Given the description of an element on the screen output the (x, y) to click on. 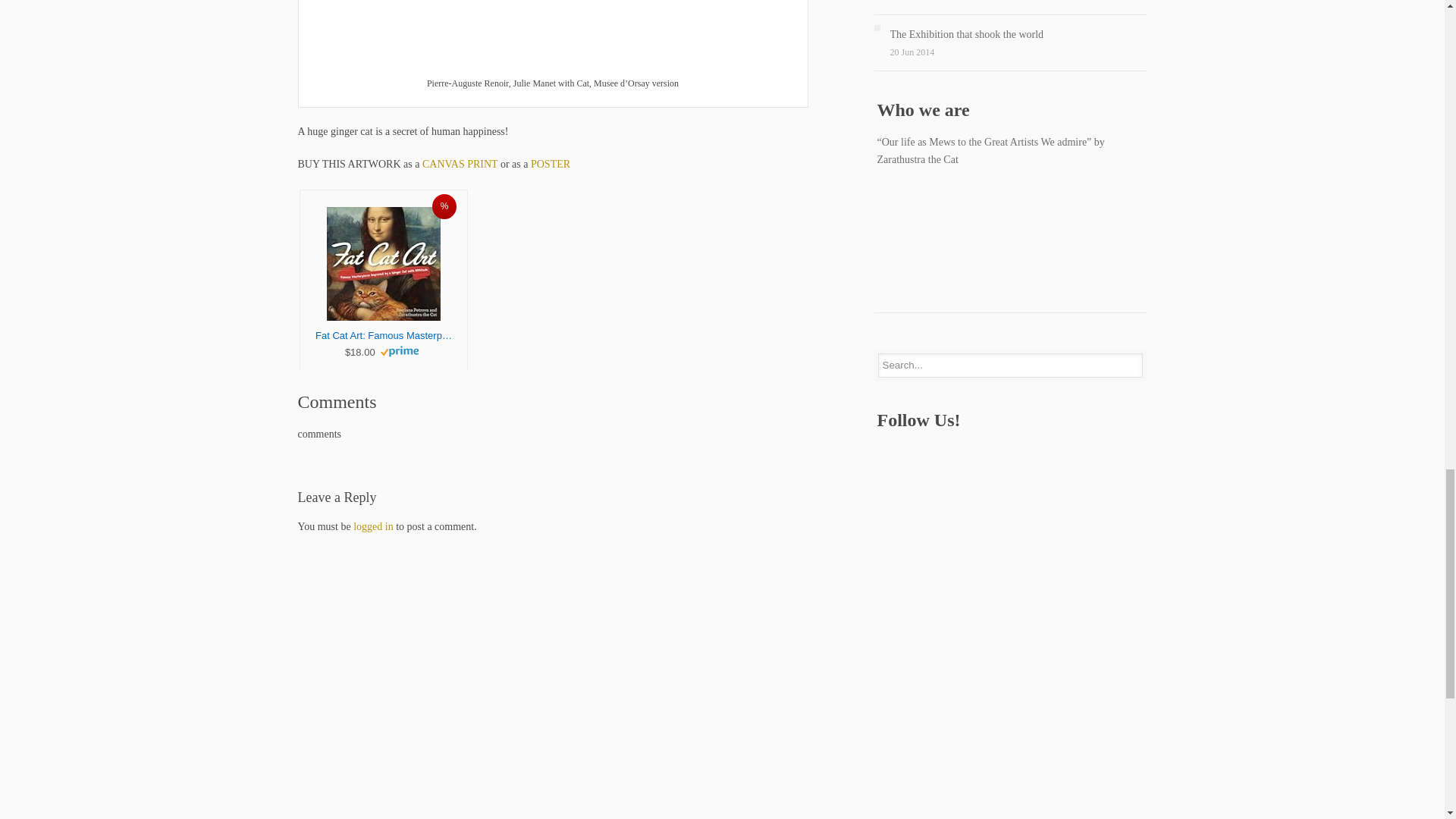
Follow Us on Facebook (885, 454)
CANVAS PRINT (459, 163)
Follow Us on Twitter (917, 454)
POSTER (550, 163)
Search... (1009, 364)
logged in (373, 526)
